Given the description of an element on the screen output the (x, y) to click on. 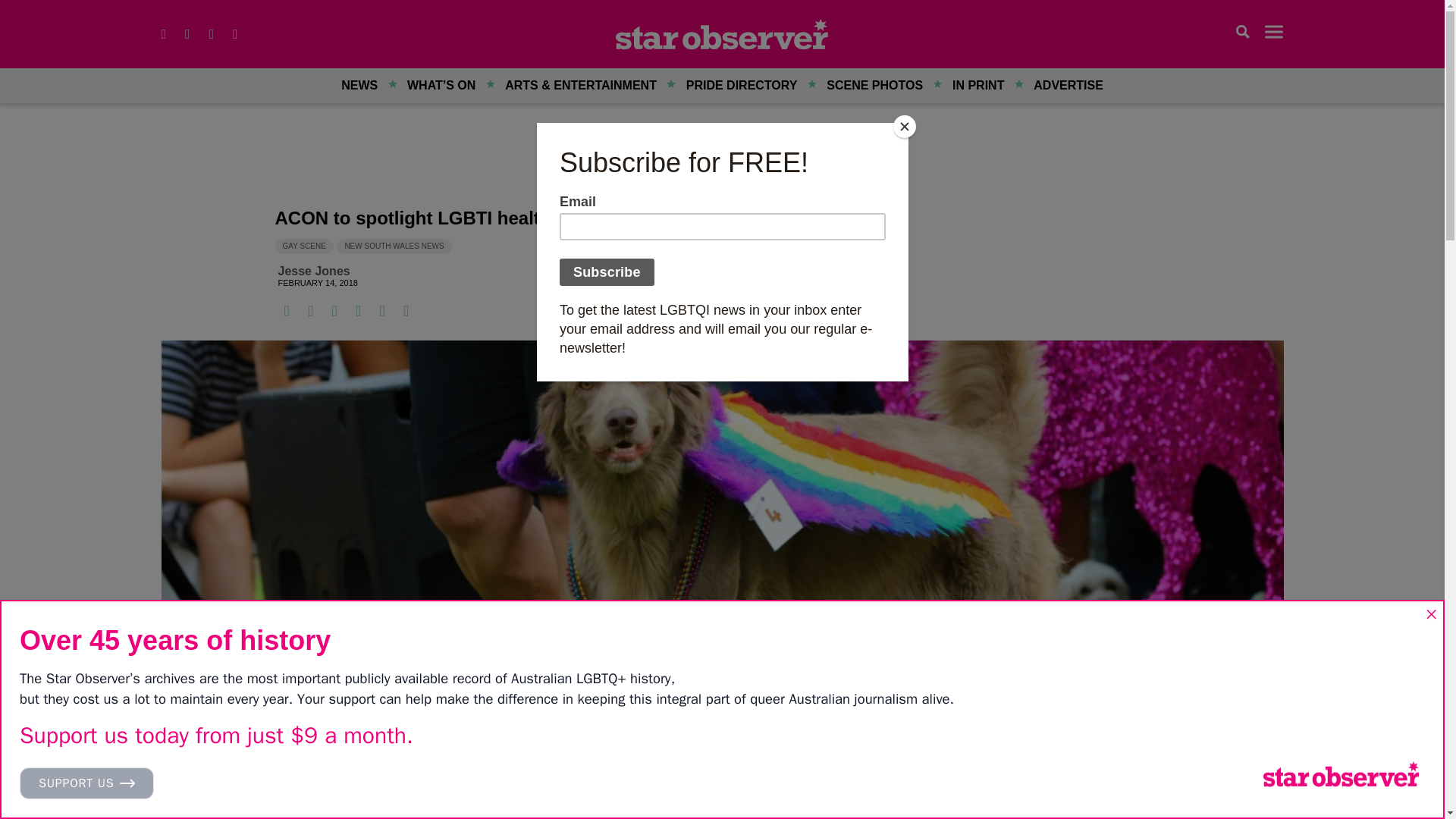
NEWS (359, 85)
PRIDE DIRECTORY (742, 85)
3rd party ad content (722, 160)
ADVERTISE (1068, 85)
SCENE PHOTOS (874, 85)
IN PRINT (977, 85)
